Given the description of an element on the screen output the (x, y) to click on. 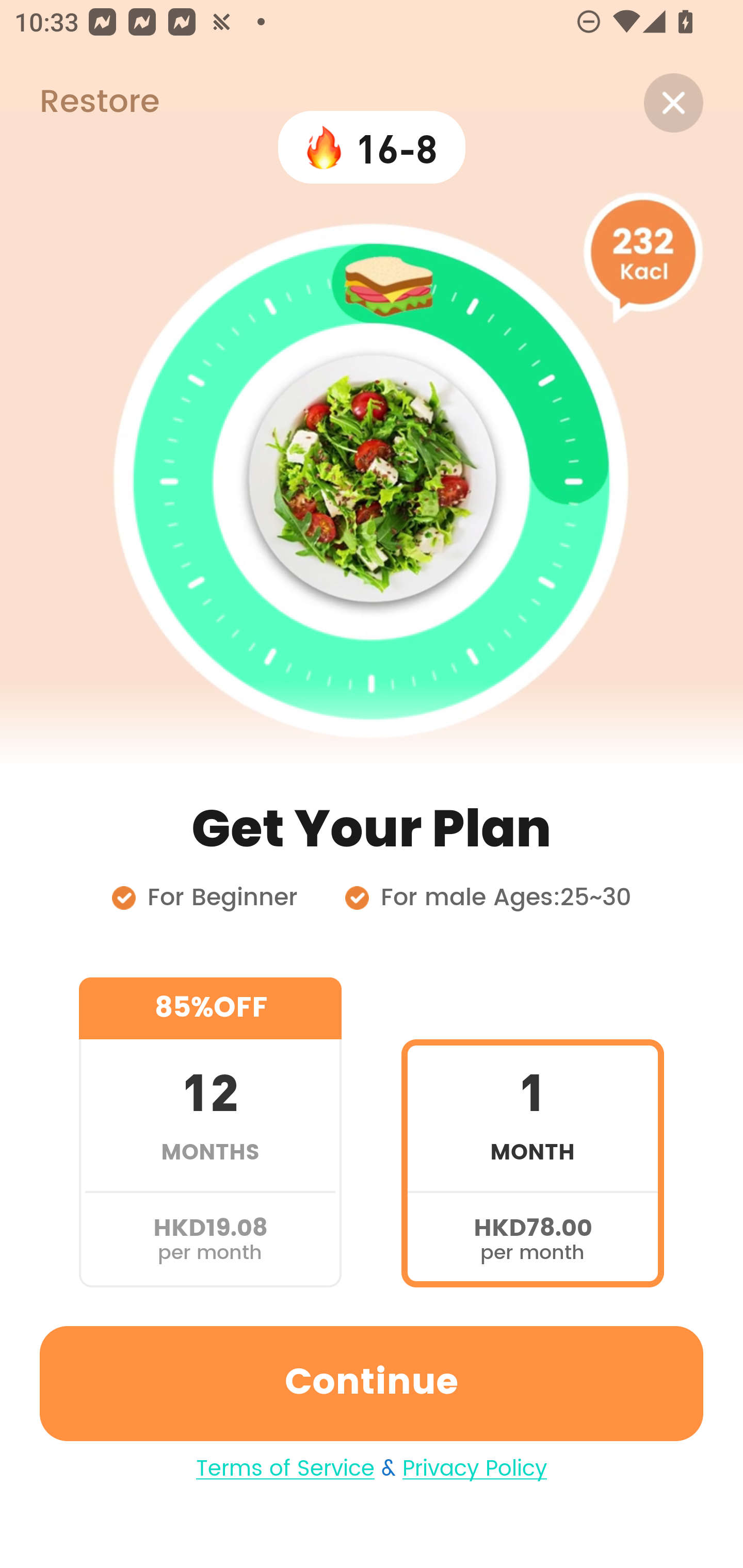
Restore (79, 102)
85%OFF 12 MONTHS per month HKD19.08 (209, 1131)
1 MONTH per month HKD78.00 (532, 1131)
Continue (371, 1383)
